Given the description of an element on the screen output the (x, y) to click on. 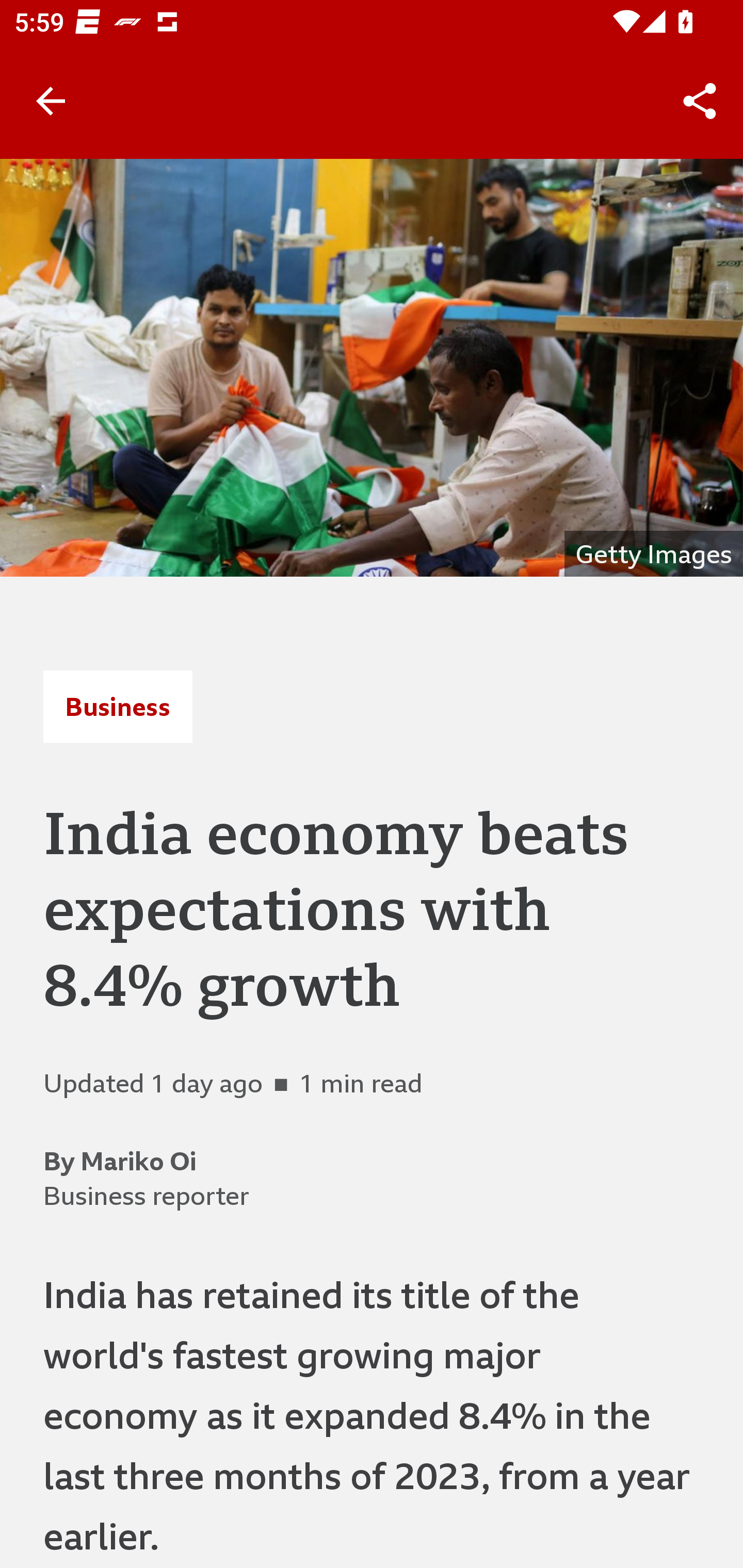
Back (50, 101)
Share (699, 101)
Business (117, 706)
